Given the description of an element on the screen output the (x, y) to click on. 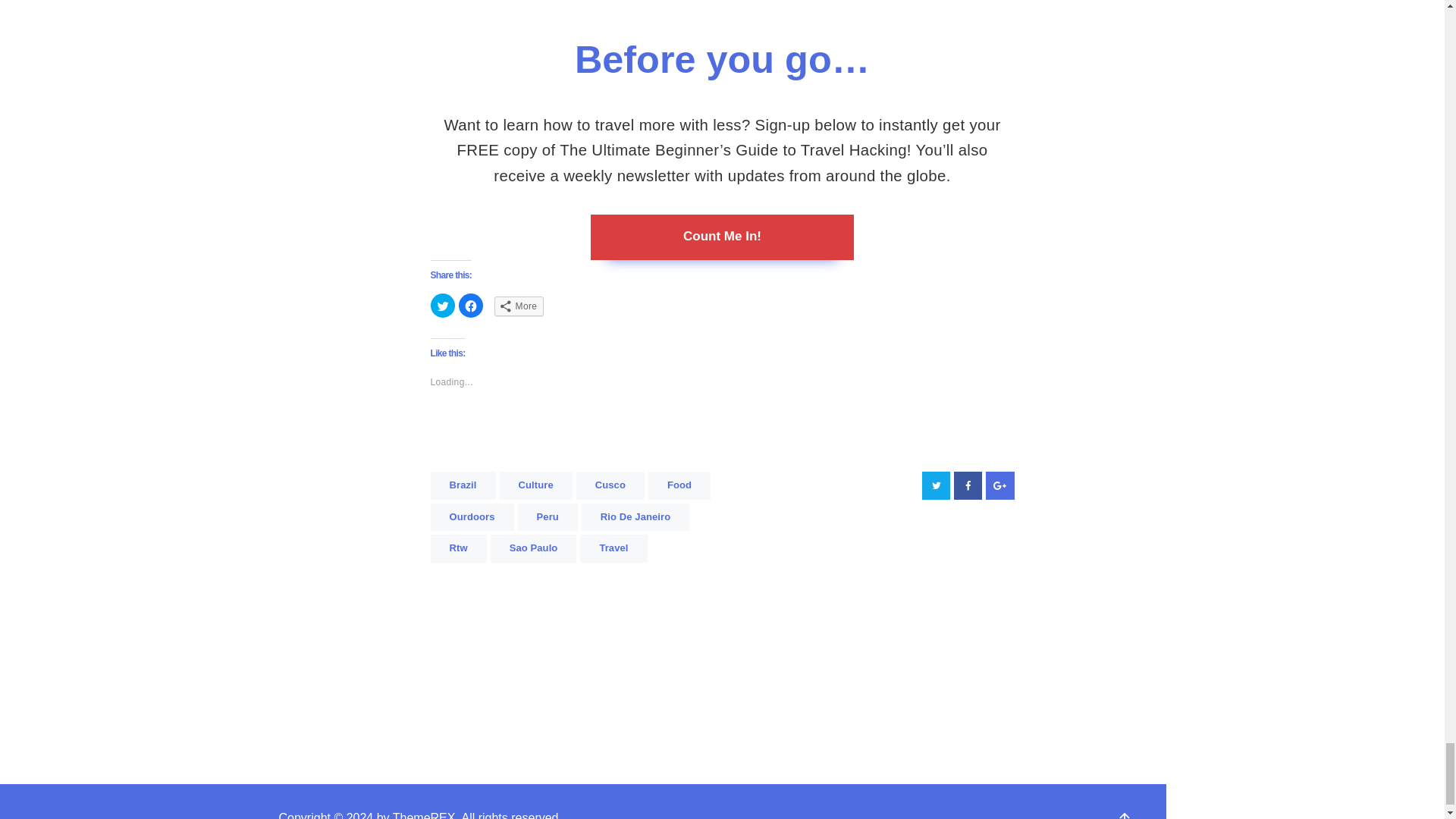
Click to share on Twitter (442, 305)
Click to share on Facebook (470, 305)
